Given the description of an element on the screen output the (x, y) to click on. 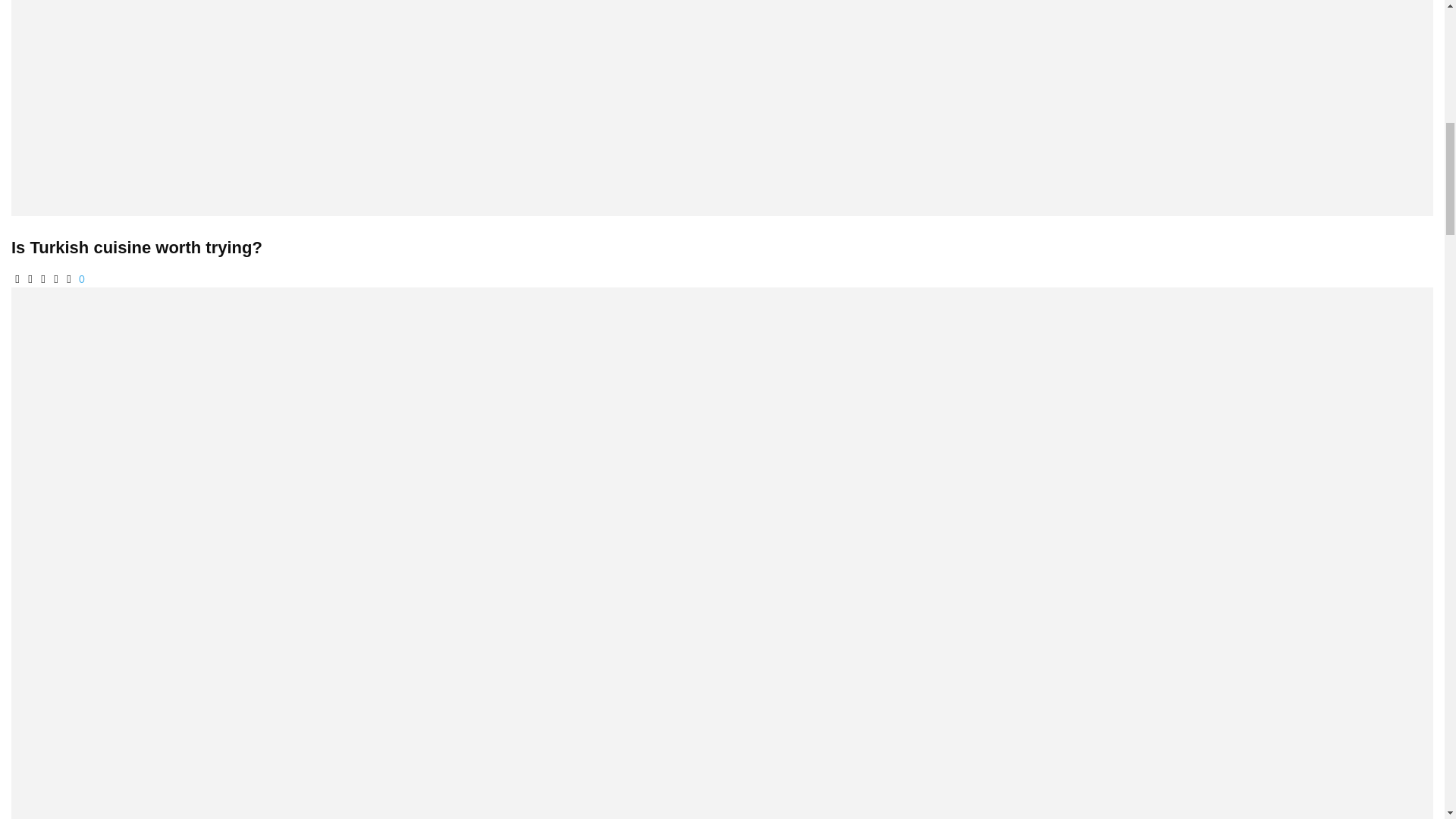
Is Turkish cuisine worth trying? (136, 247)
